Given the description of an element on the screen output the (x, y) to click on. 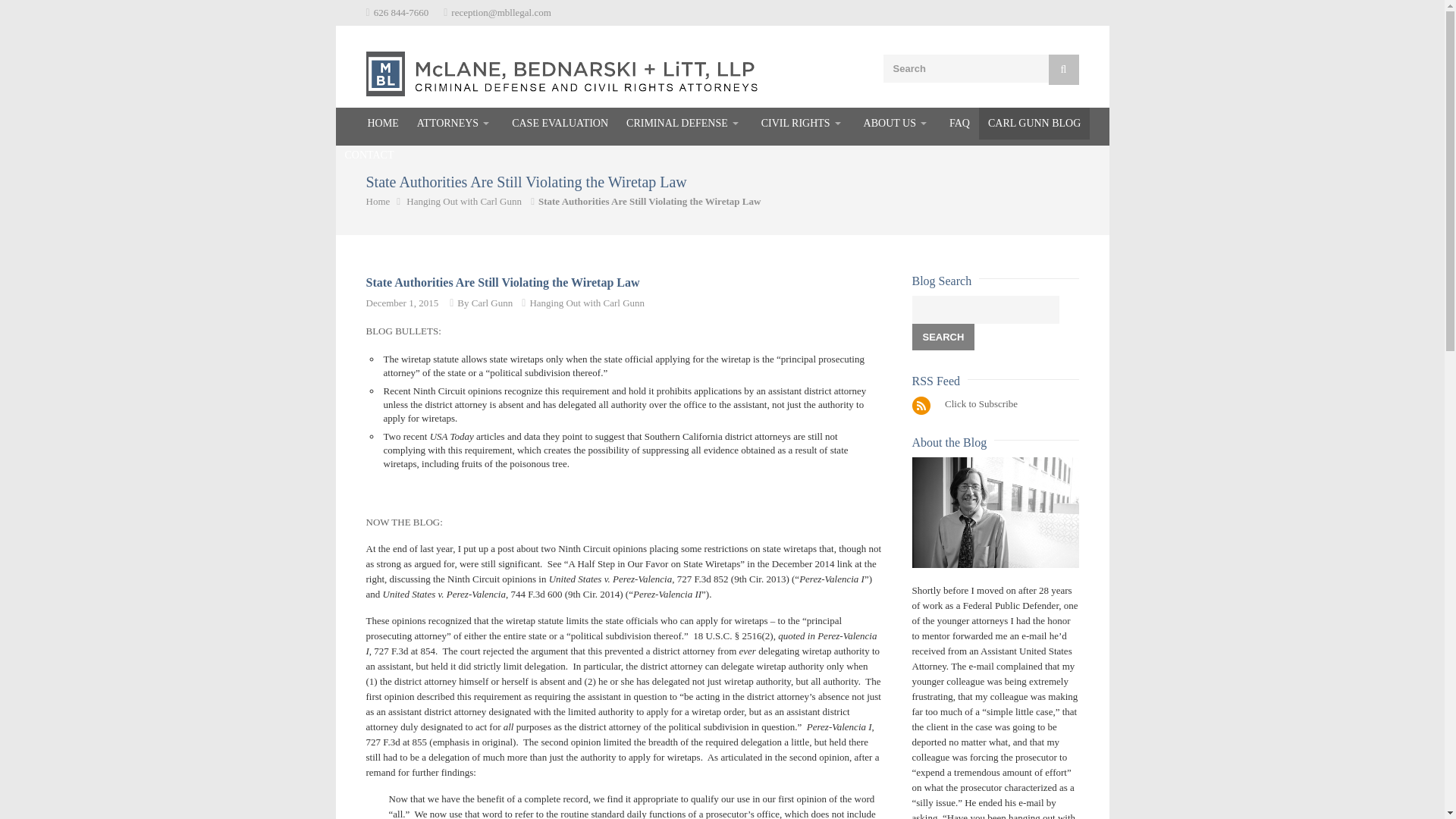
CRIMINAL DEFENSE (684, 123)
CASE EVALUATION (559, 123)
HOME (370, 123)
ATTORNEYS (454, 123)
